Given the description of an element on the screen output the (x, y) to click on. 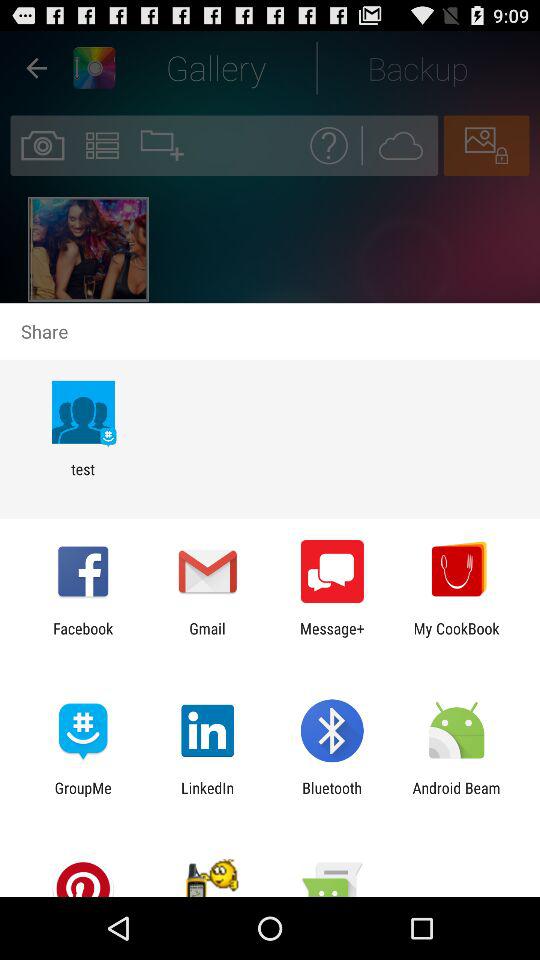
scroll to test app (82, 478)
